Given the description of an element on the screen output the (x, y) to click on. 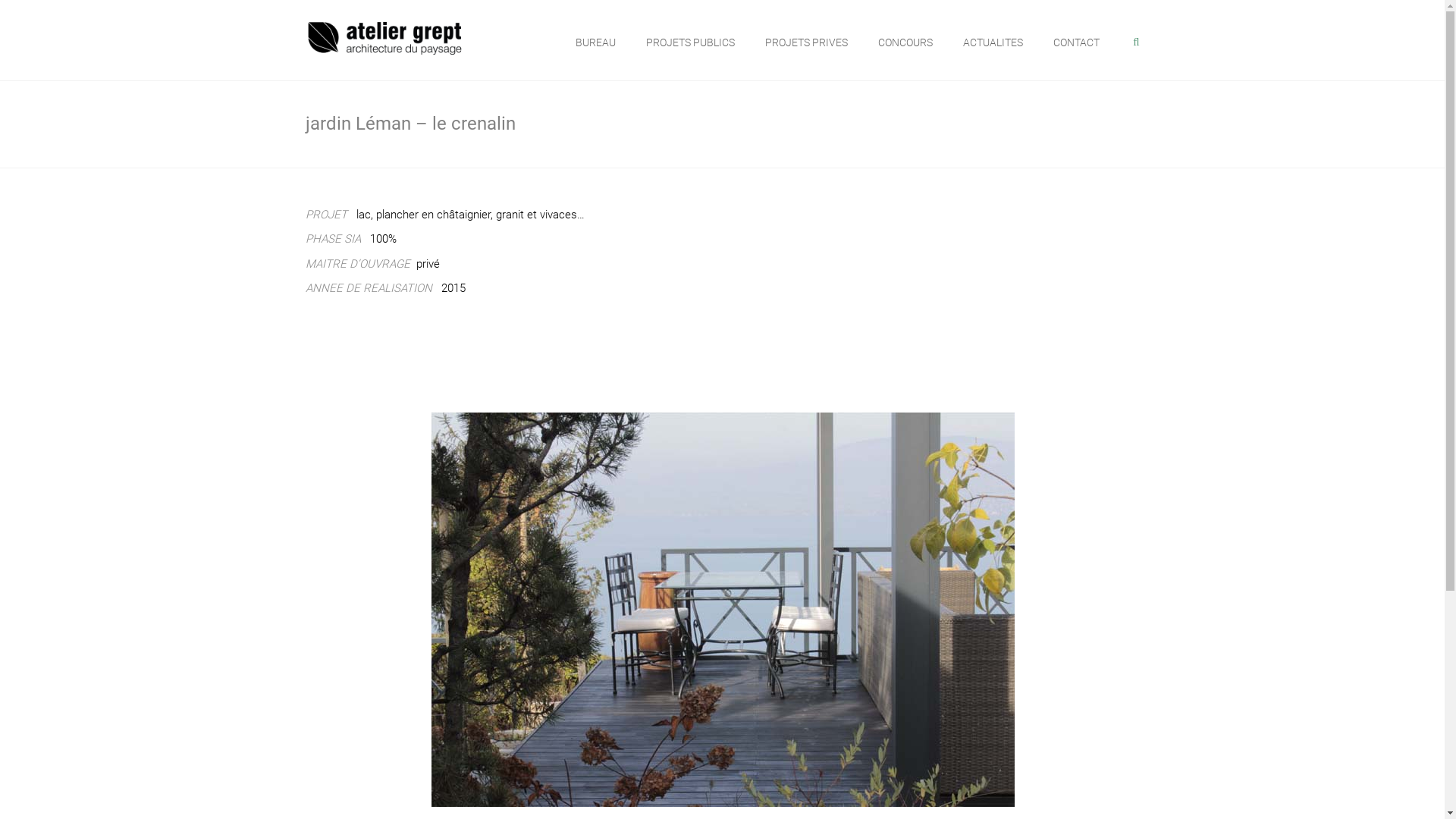
CONCOURS Element type: text (905, 42)
CONTACT Element type: text (1076, 42)
PROJETS PRIVES Element type: text (806, 42)
BUREAU Element type: text (595, 42)
ACTUALITES Element type: text (992, 42)
PROJETS PUBLICS Element type: text (690, 42)
